Given the description of an element on the screen output the (x, y) to click on. 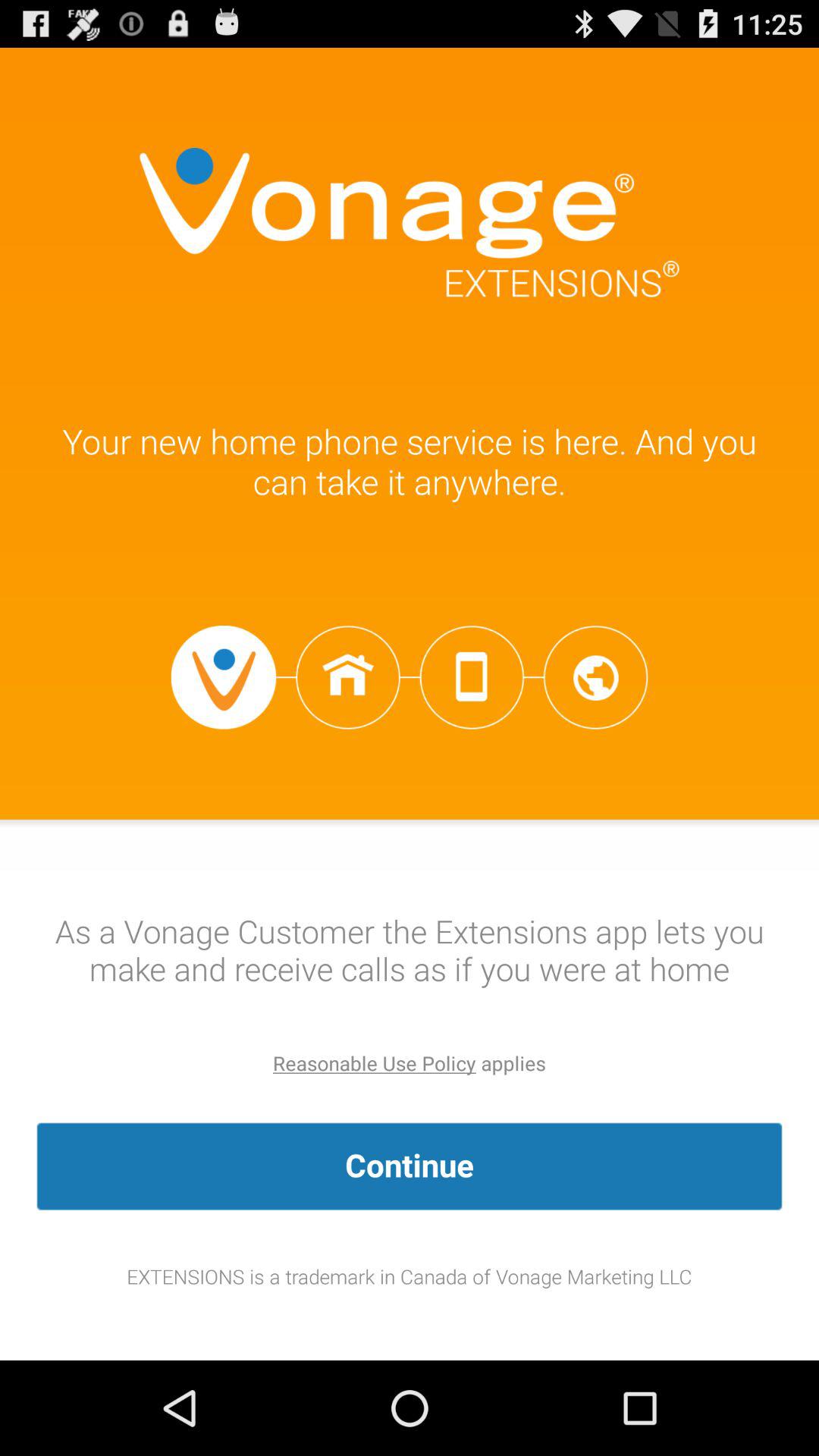
swipe to the continue item (409, 1166)
